Given the description of an element on the screen output the (x, y) to click on. 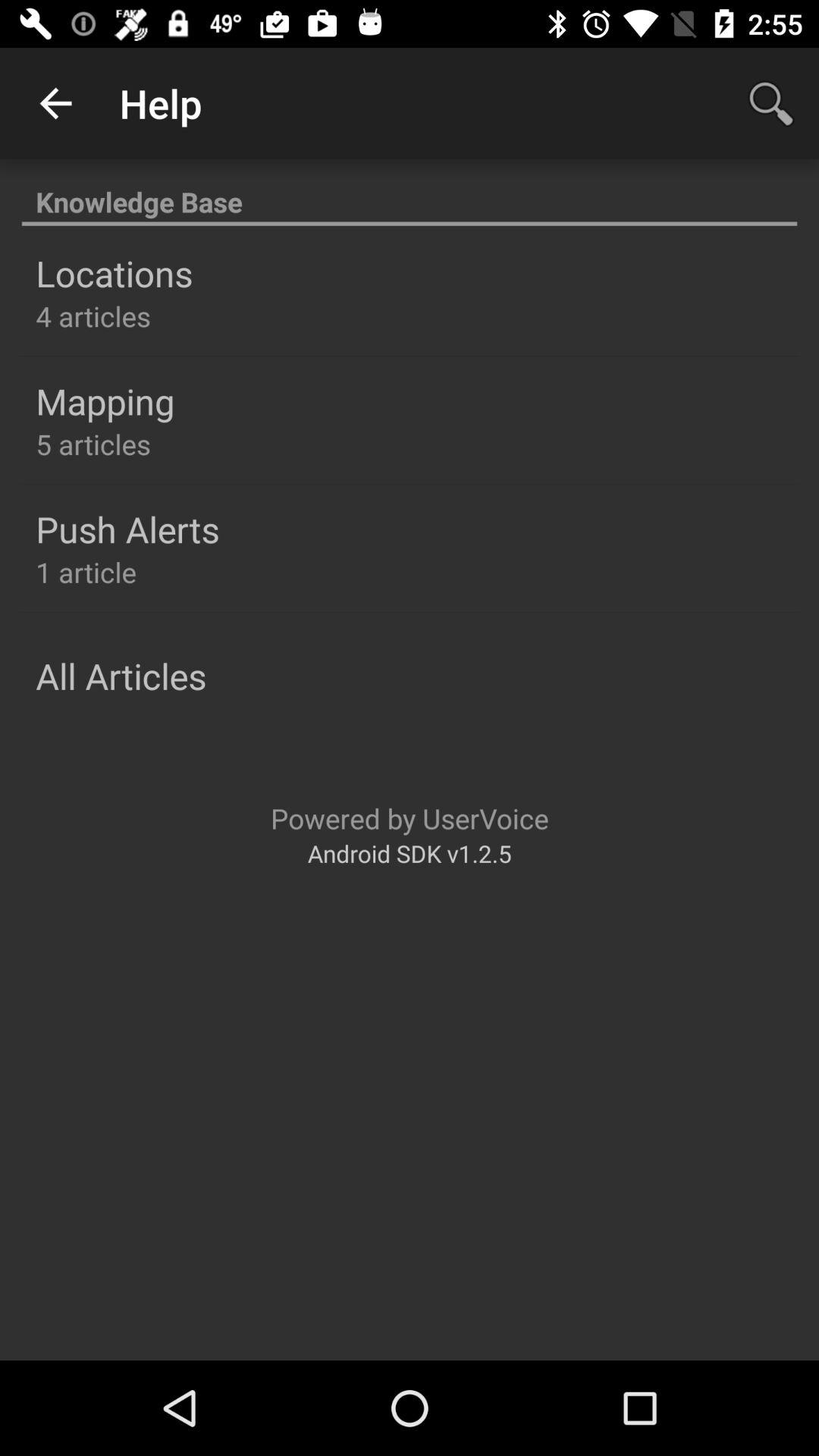
turn off the item above knowledge base (771, 103)
